Given the description of an element on the screen output the (x, y) to click on. 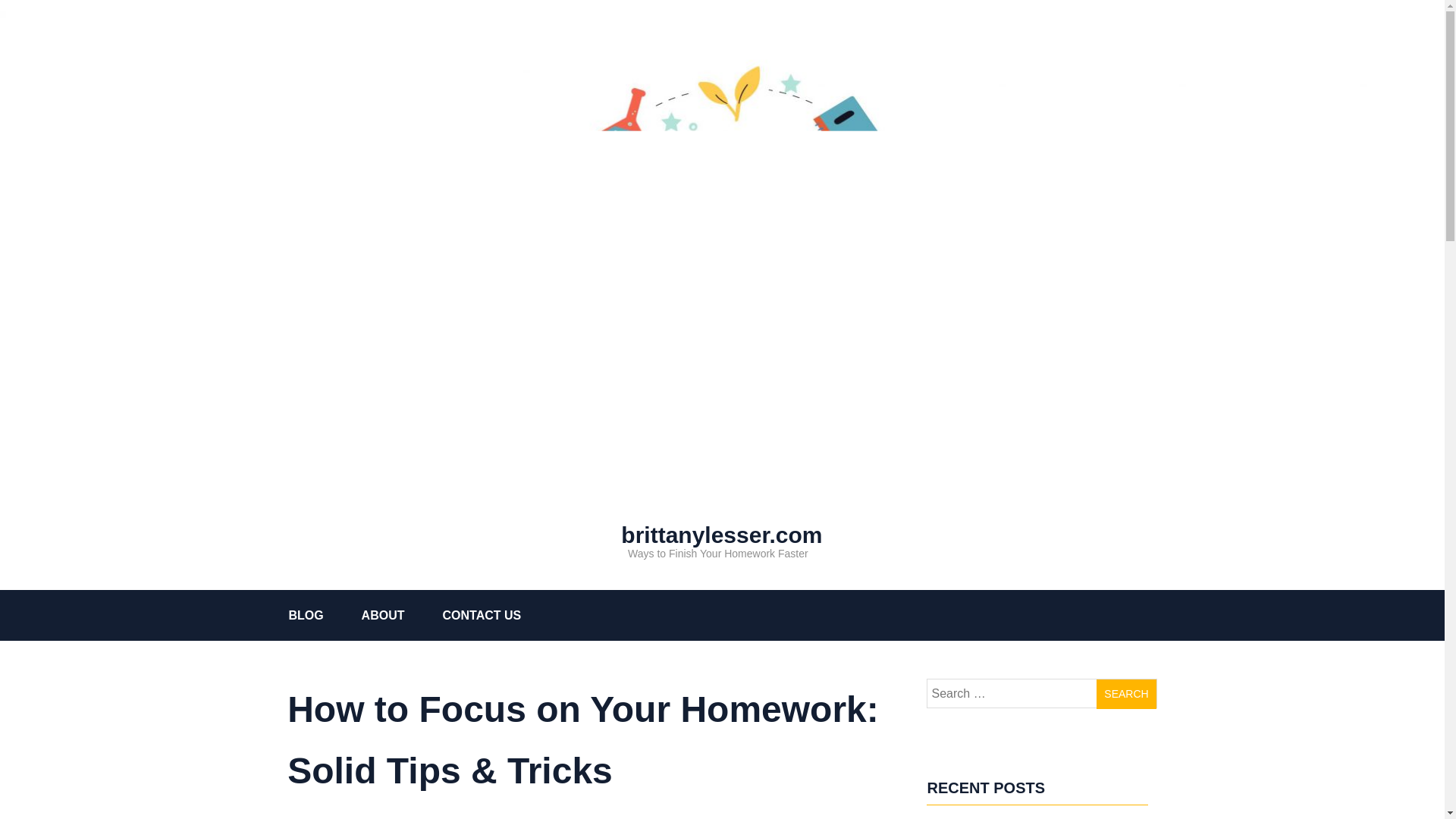
Search (1126, 694)
BLOG (324, 614)
Search (1126, 694)
brittanylesser.com (721, 534)
ABOUT (401, 614)
CONTACT US (500, 614)
Search (1126, 694)
